Given the description of an element on the screen output the (x, y) to click on. 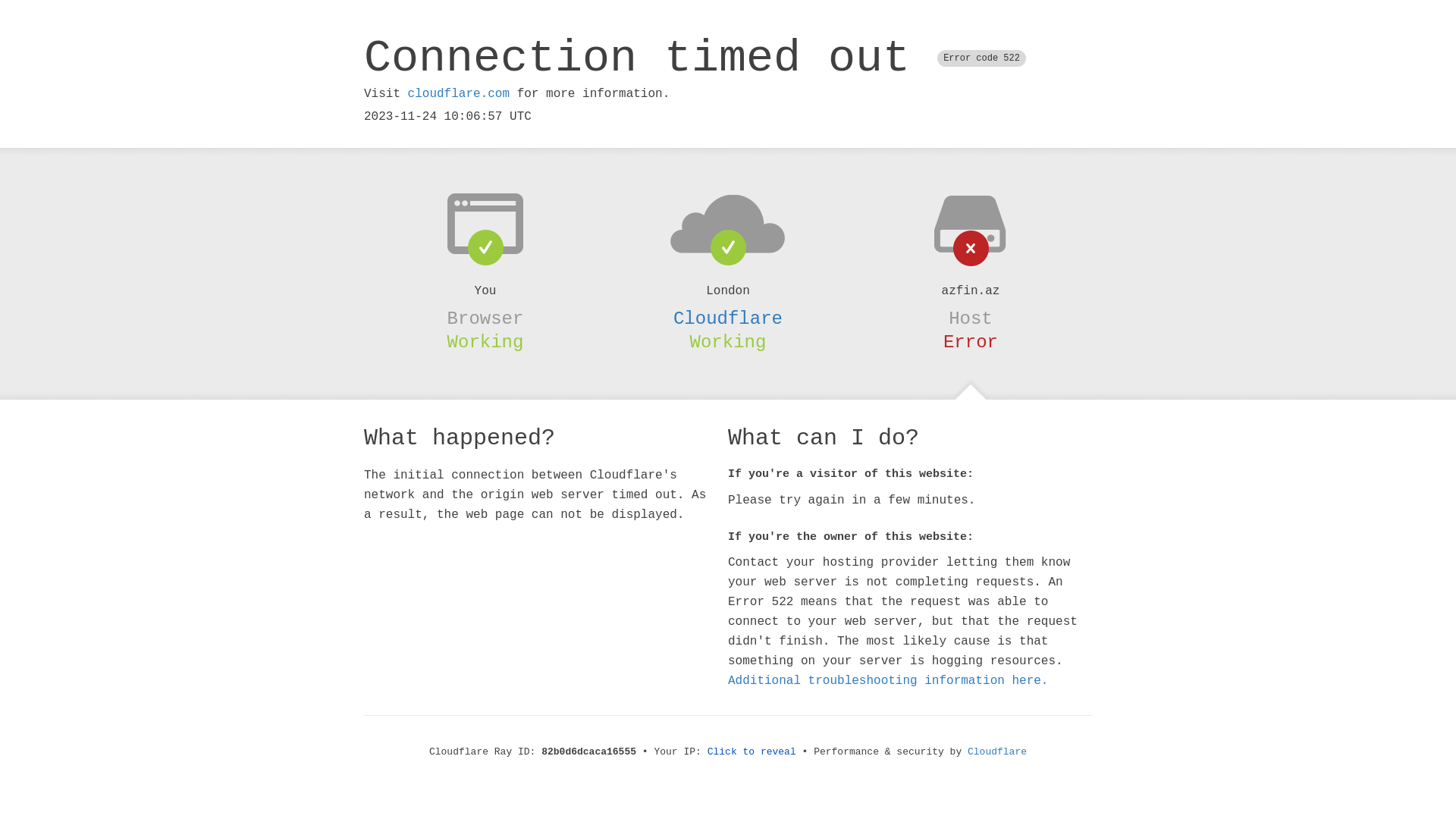
Click to reveal Element type: text (751, 751)
cloudflare.com Element type: text (458, 93)
Cloudflare Element type: text (996, 751)
Additional troubleshooting information here. Element type: text (888, 680)
Cloudflare Element type: text (727, 318)
